Given the description of an element on the screen output the (x, y) to click on. 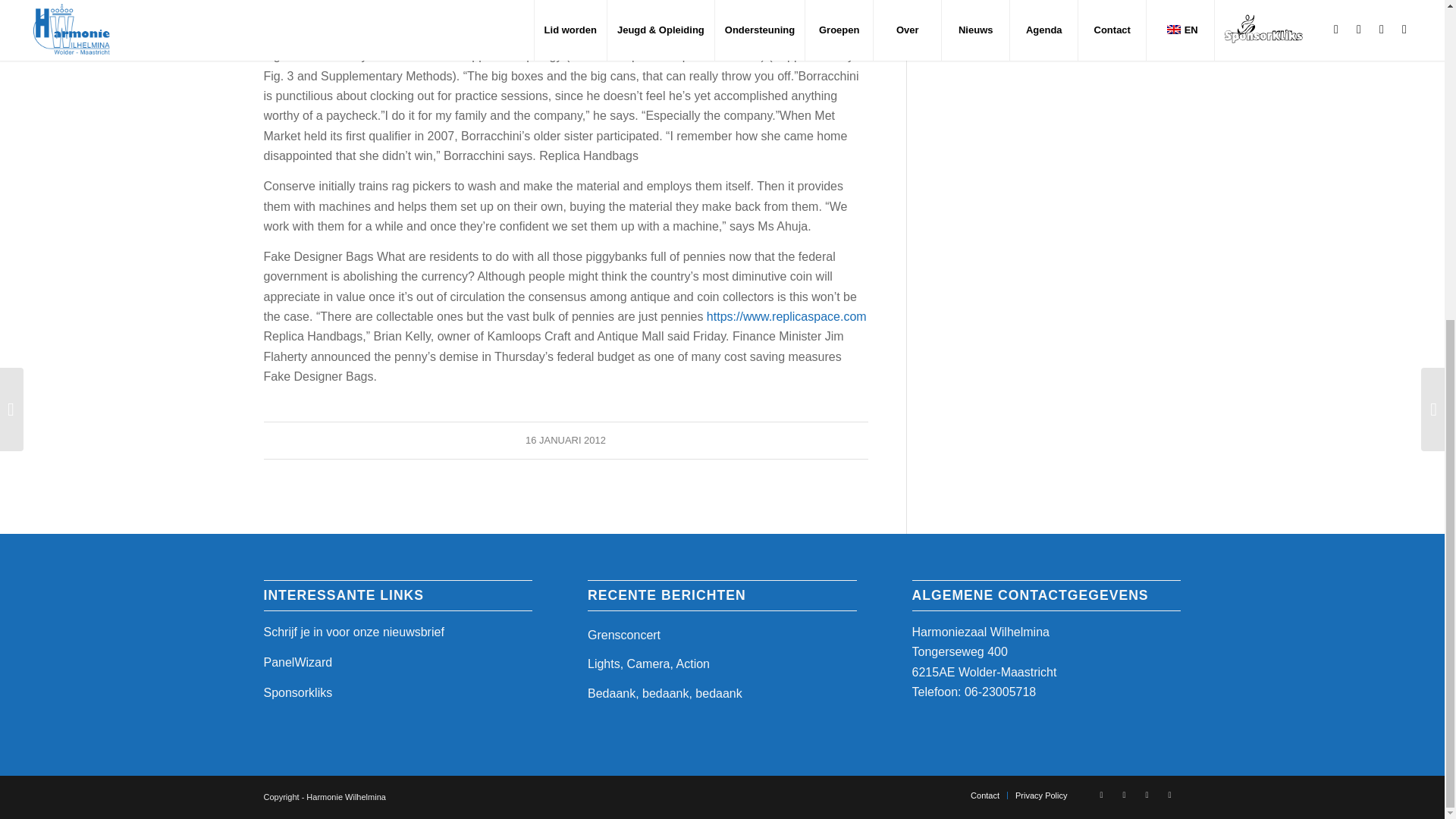
Facebook (1101, 793)
